Given the description of an element on the screen output the (x, y) to click on. 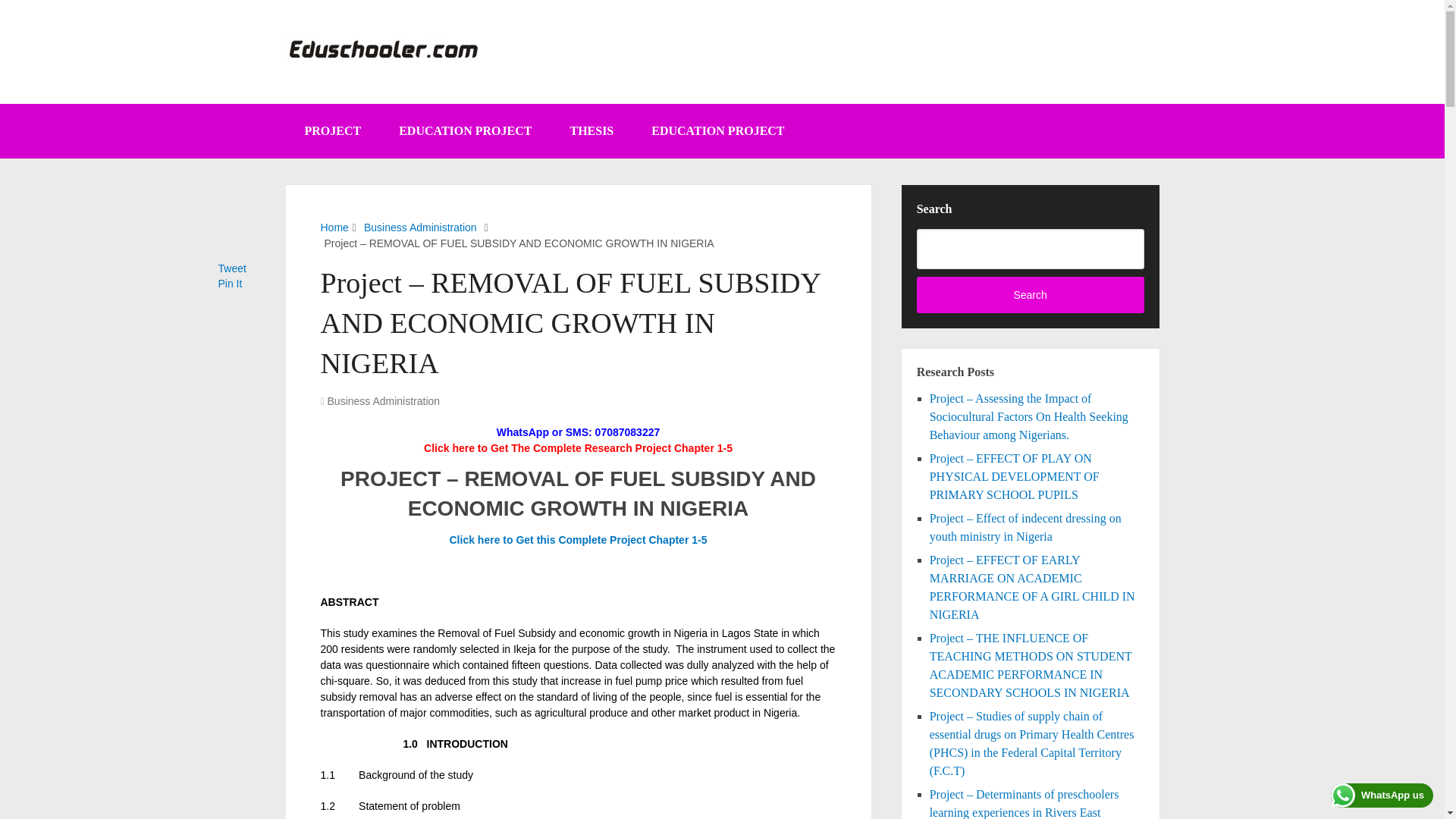
PROJECT (332, 131)
THESIS (590, 131)
EDUCATION PROJECT (717, 131)
Click here to Get The Complete Research Project Chapter 1-5 (577, 448)
Business Administration (420, 227)
EDUCATION PROJECT (465, 131)
Click here to Get this Complete Project Chapter 1-5 (577, 539)
View all posts in Business Administration (384, 400)
WhatsApp or SMS: 07087083227 (578, 431)
Home (333, 227)
